Given the description of an element on the screen output the (x, y) to click on. 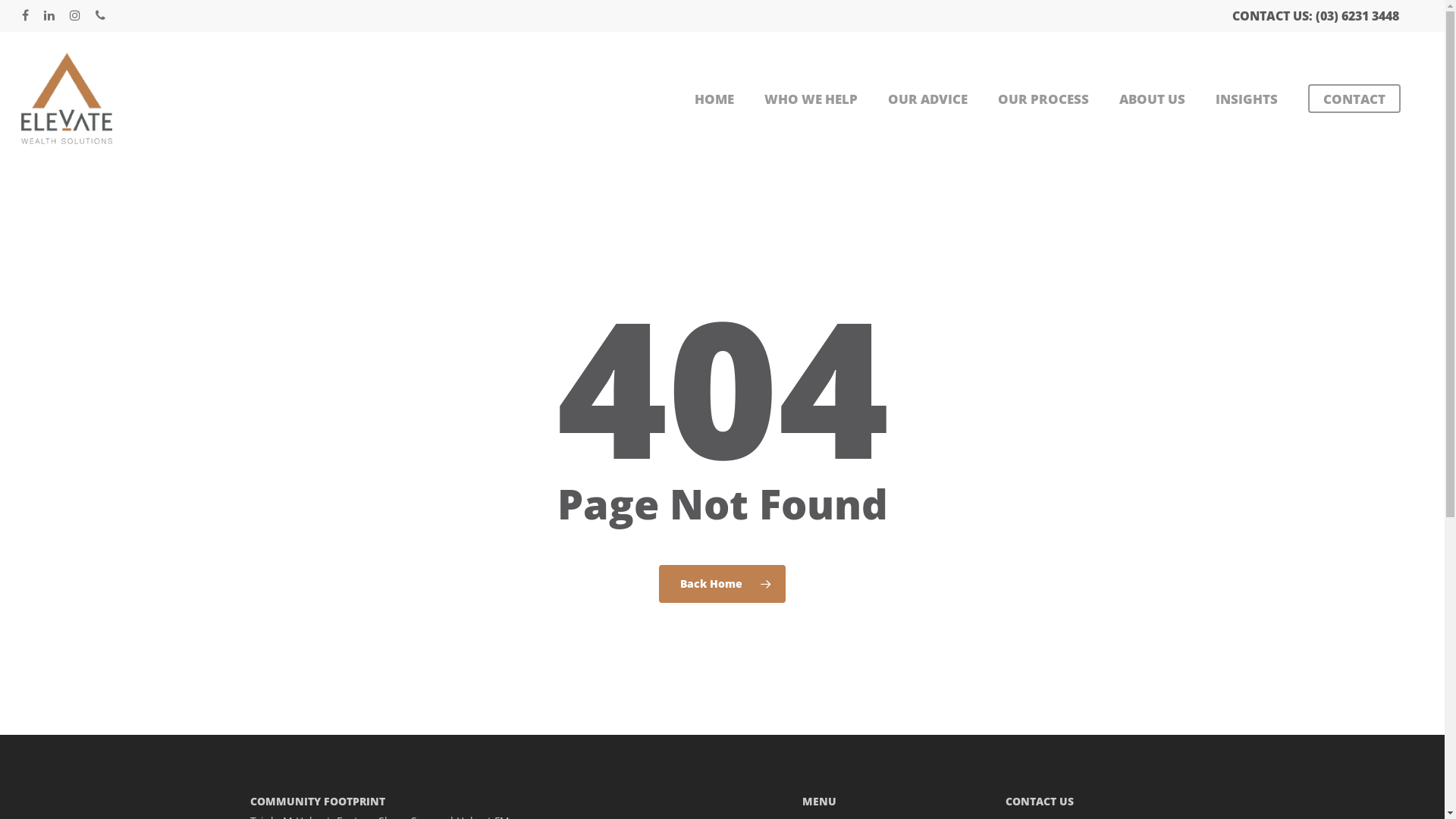
OUR ADVICE Element type: text (927, 98)
LINKEDIN Element type: text (48, 15)
ABOUT US Element type: text (1152, 98)
INSIGHTS Element type: text (1246, 98)
CONTACT Element type: text (1354, 98)
INSTAGRAM Element type: text (74, 15)
PHONE Element type: text (100, 15)
Back Home Element type: text (721, 583)
WHO WE HELP Element type: text (810, 98)
OUR PROCESS Element type: text (1042, 98)
CONTACT US: (03) 6231 3448 Element type: text (1315, 15)
HOME Element type: text (714, 98)
FACEBOOK Element type: text (24, 15)
